Given the description of an element on the screen output the (x, y) to click on. 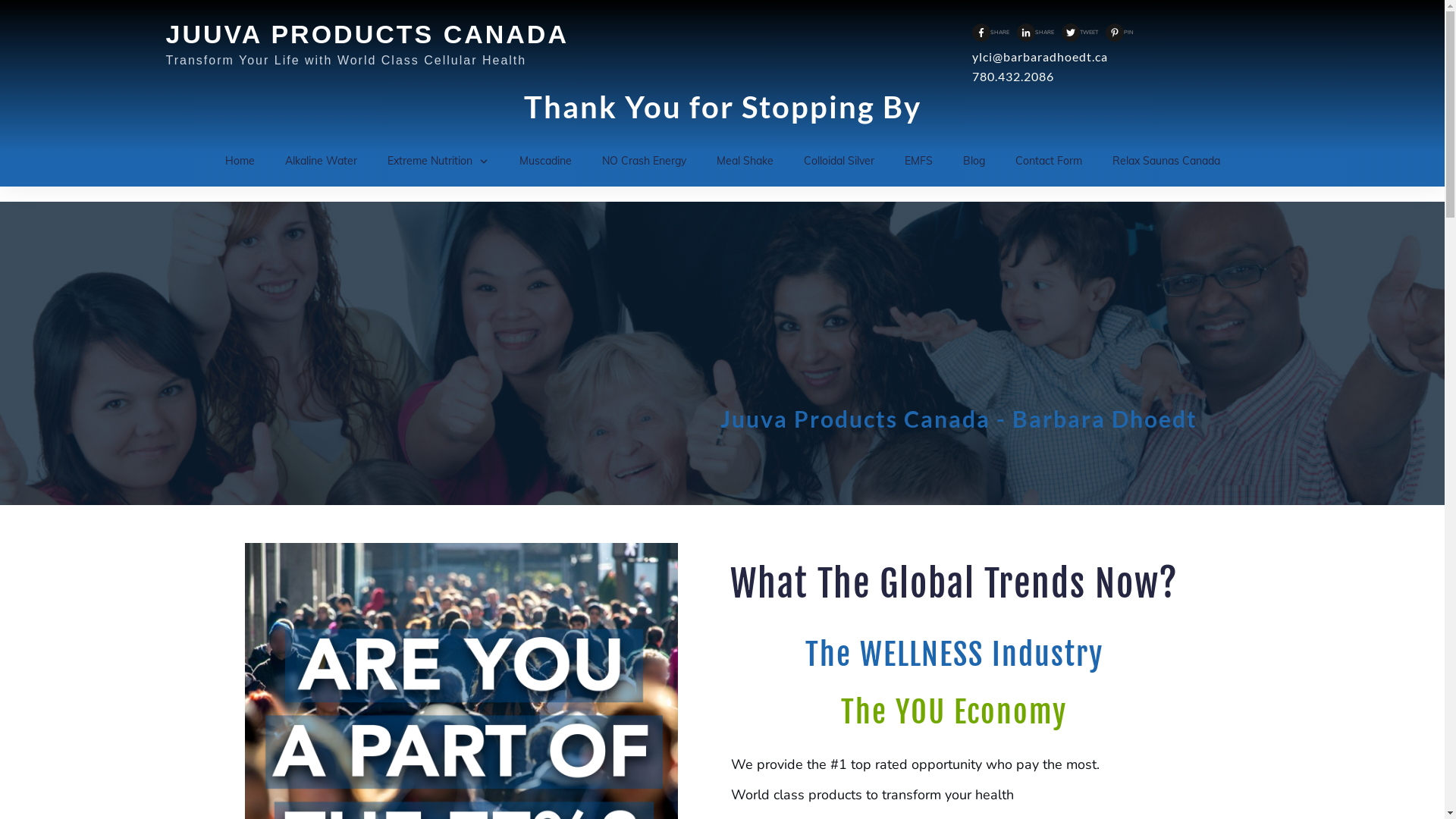
Blog Element type: text (974, 161)
Colloidal Silver Element type: text (838, 161)
EMFS Element type: text (917, 161)
Thank You for Stopping By Element type: text (721, 106)
Alkaline Water Element type: text (321, 161)
NO Crash Energy Element type: text (644, 161)
Relax Saunas Canada Element type: text (1165, 161)
Meal Shake Element type: text (743, 161)
SHARE Element type: text (1035, 32)
PIN Element type: text (1118, 32)
Extreme Nutrition Element type: text (437, 161)
TWEET Element type: text (1079, 32)
Contact Form Element type: text (1047, 161)
Muscadine Element type: text (544, 161)
Home Element type: text (239, 161)
SHARE Element type: text (990, 32)
